Given the description of an element on the screen output the (x, y) to click on. 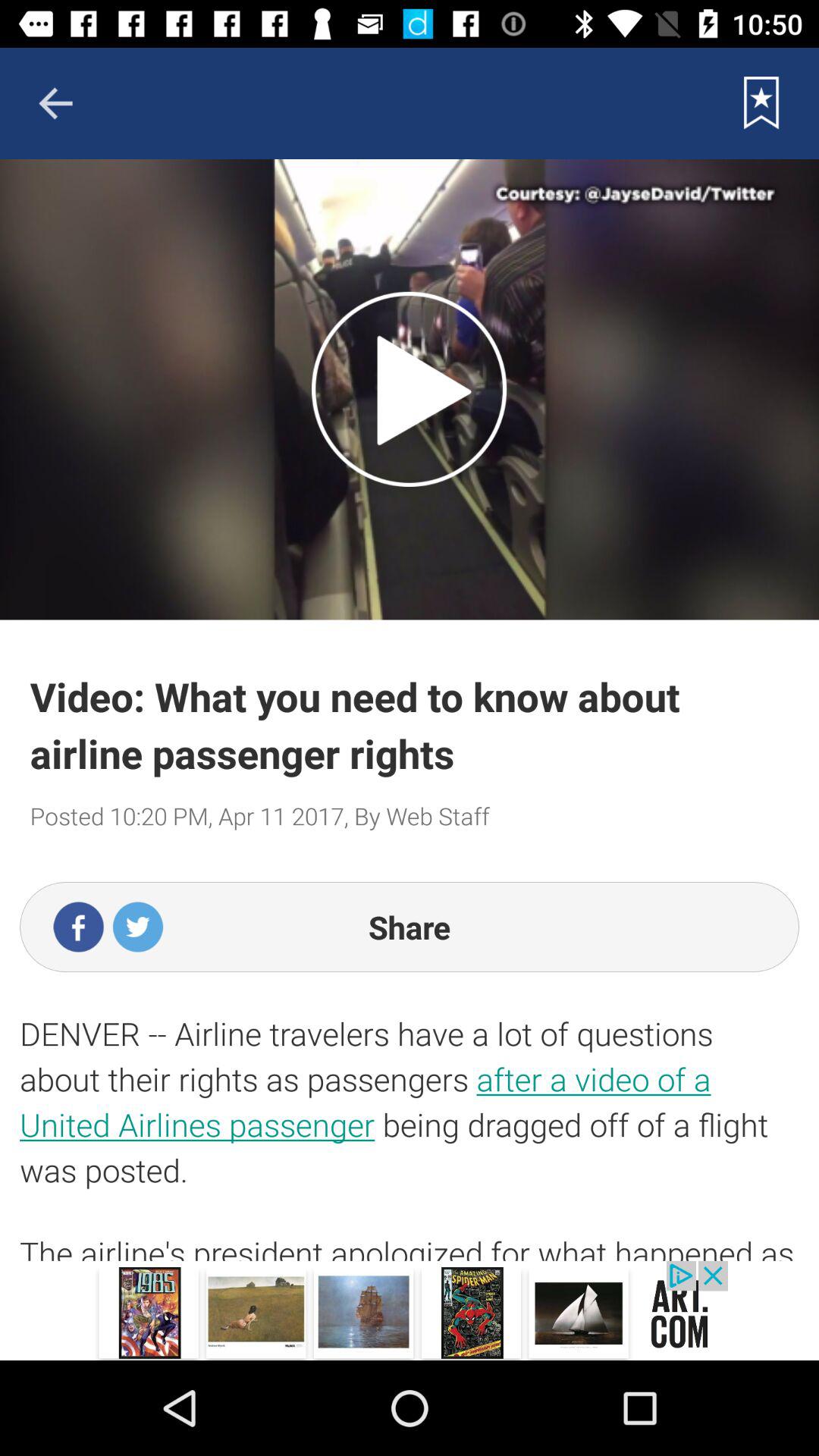
back ward (55, 103)
